Given the description of an element on the screen output the (x, y) to click on. 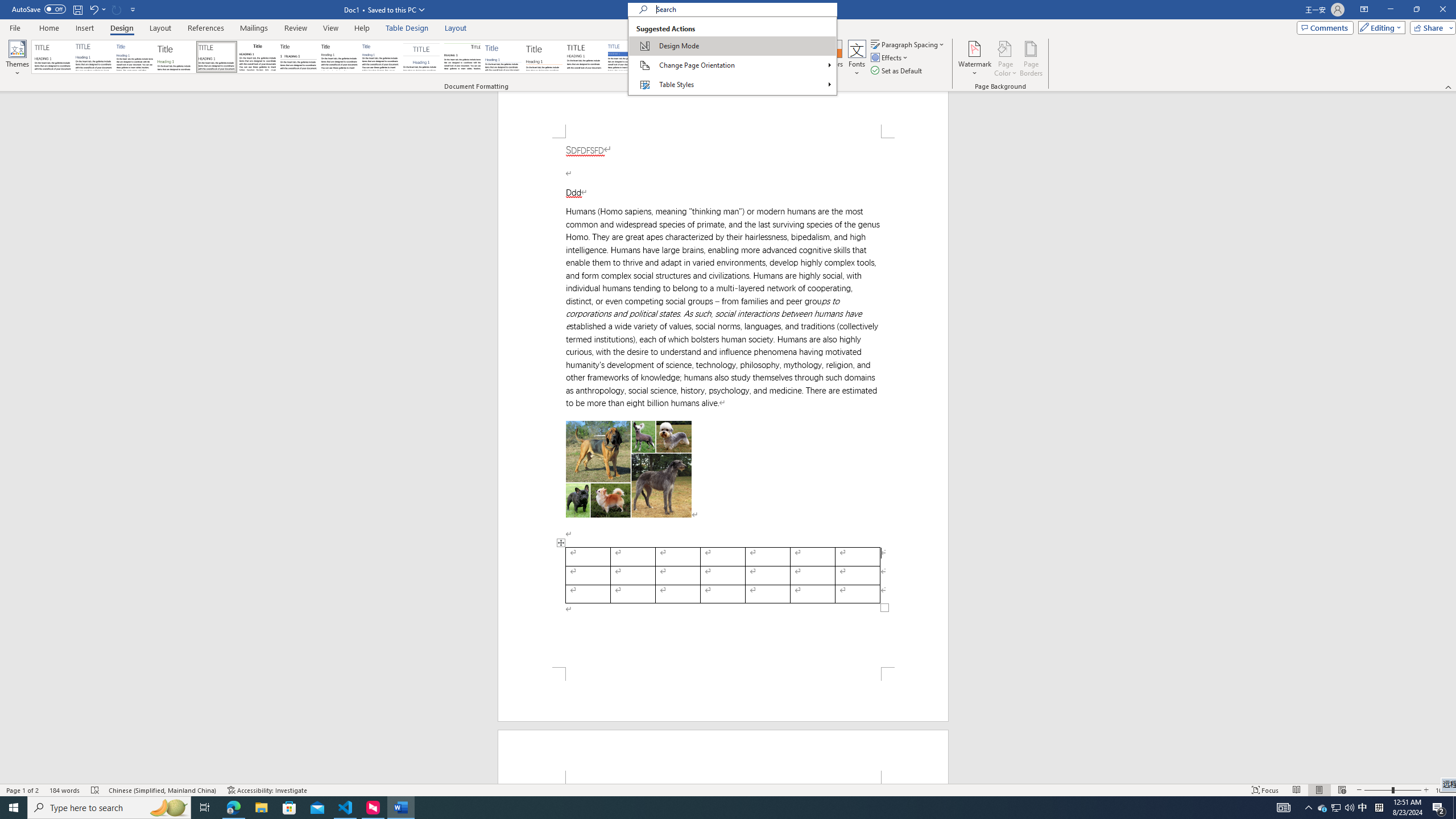
Table Styles (731, 84)
Accessibility Checker Accessibility: Investigate (266, 790)
Basic (Stylish) (175, 56)
Morphological variation in six dogs (628, 468)
Paragraph Spacing (908, 44)
Word 2010 (749, 56)
Row up (814, 45)
